Given the description of an element on the screen output the (x, y) to click on. 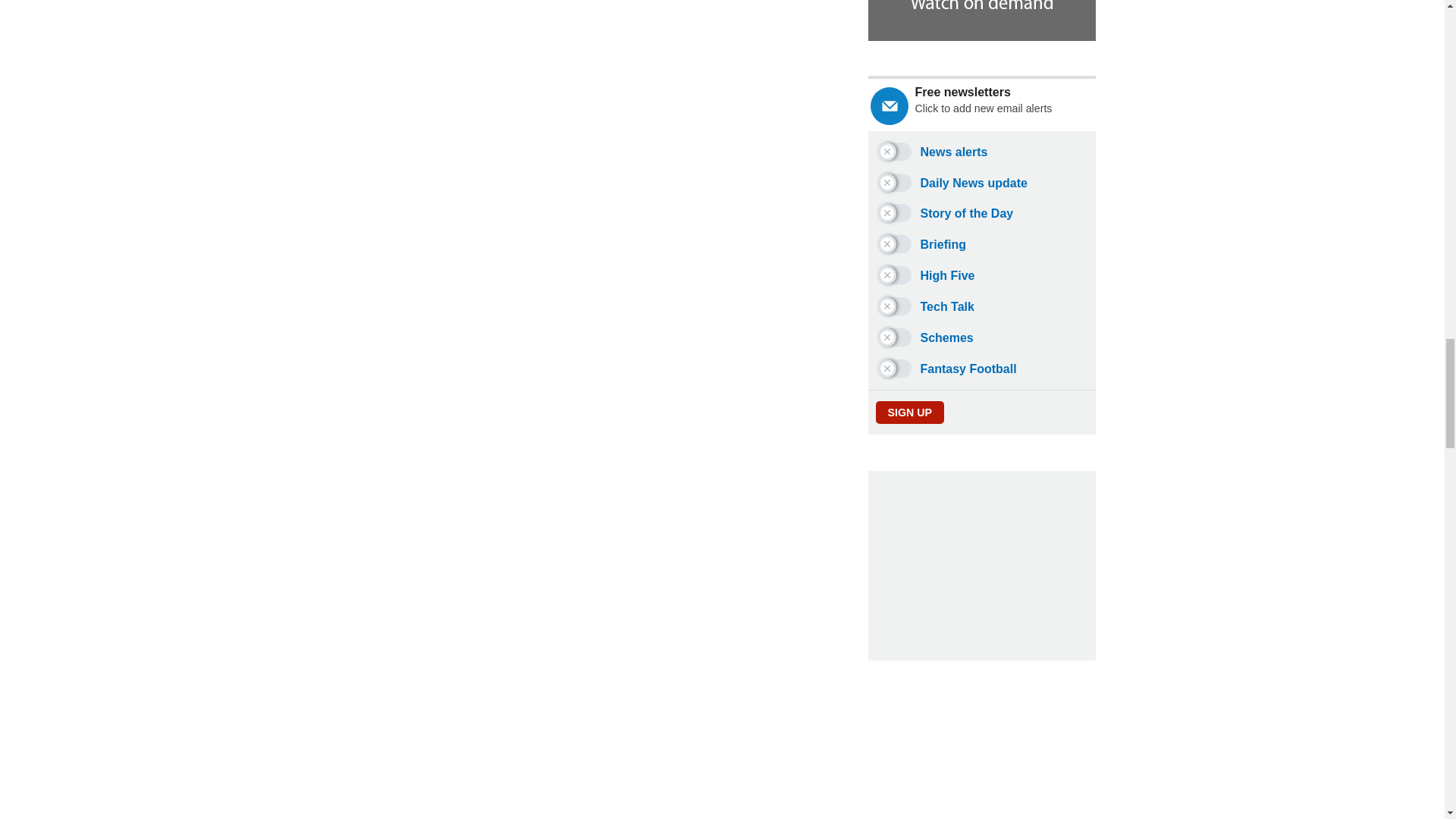
3rd party ad content (722, 761)
3rd party ad content (980, 565)
